Given the description of an element on the screen output the (x, y) to click on. 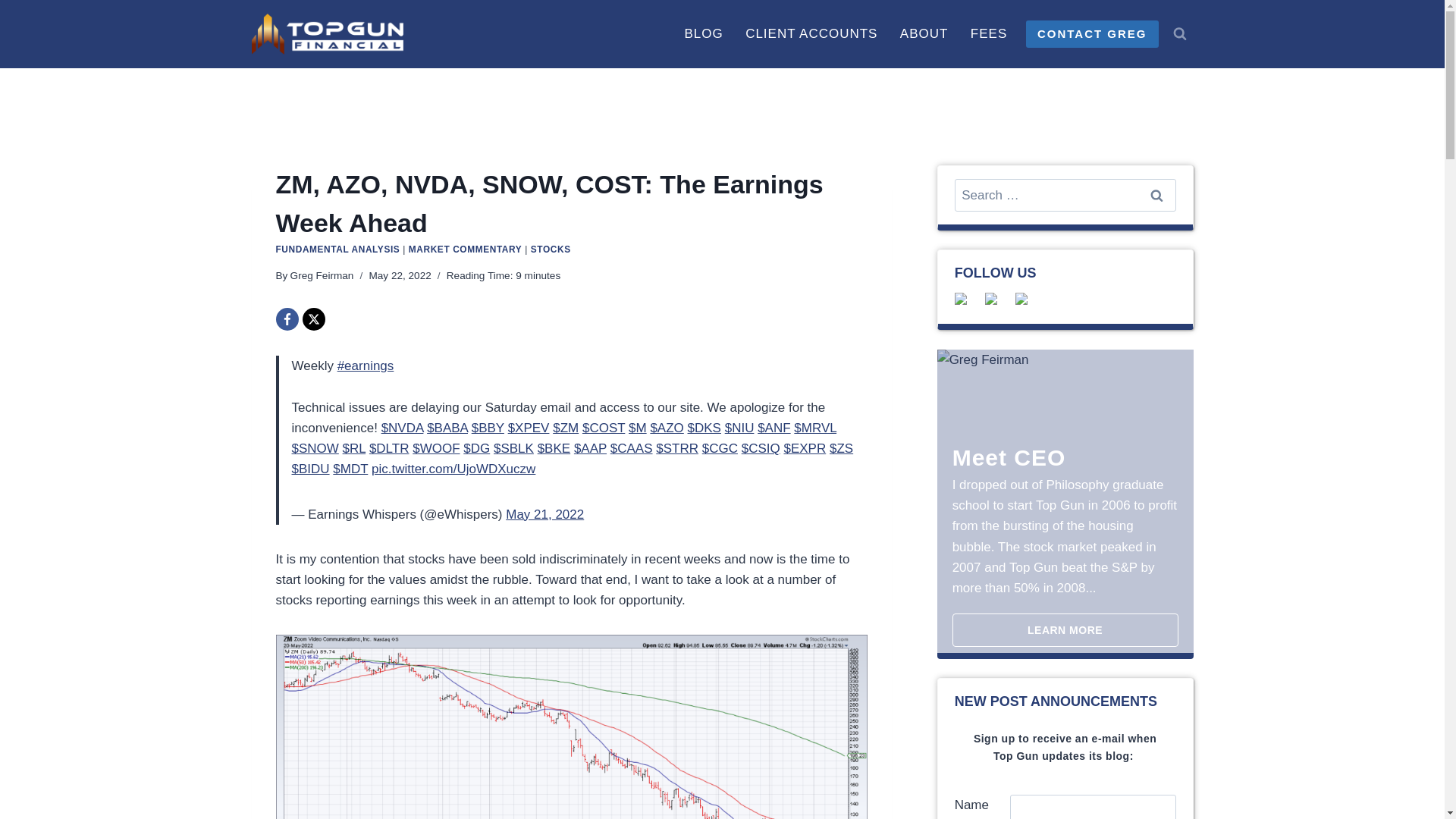
STOCKS (550, 249)
Greg Feirman (321, 275)
ABOUT (923, 33)
CONTACT GREG (1092, 33)
FEES (988, 33)
FUNDAMENTAL ANALYSIS (338, 249)
Search (1155, 195)
BLOG (703, 33)
MARKET COMMENTARY (465, 249)
CLIENT ACCOUNTS (810, 33)
